Given the description of an element on the screen output the (x, y) to click on. 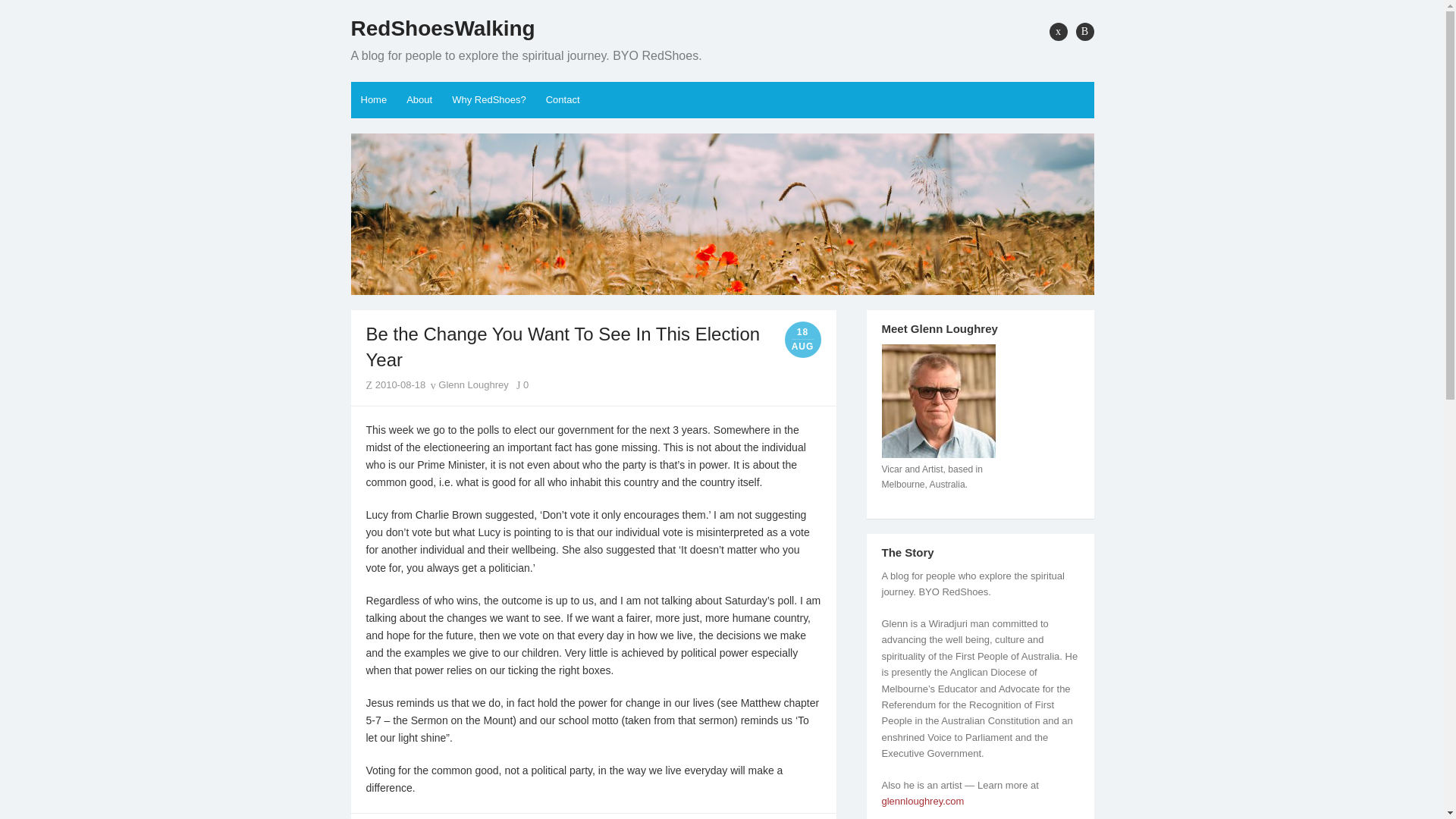
Why RedShoes? (488, 99)
facebook (1058, 31)
About (419, 99)
Contact (562, 99)
RedShoesWalking (442, 28)
0 (522, 384)
Glenn Loughrey (469, 384)
2010-08-18 (400, 384)
Home (373, 99)
twitter (1084, 31)
glennloughrey.com (921, 800)
RedShoesWalking (721, 214)
